Given the description of an element on the screen output the (x, y) to click on. 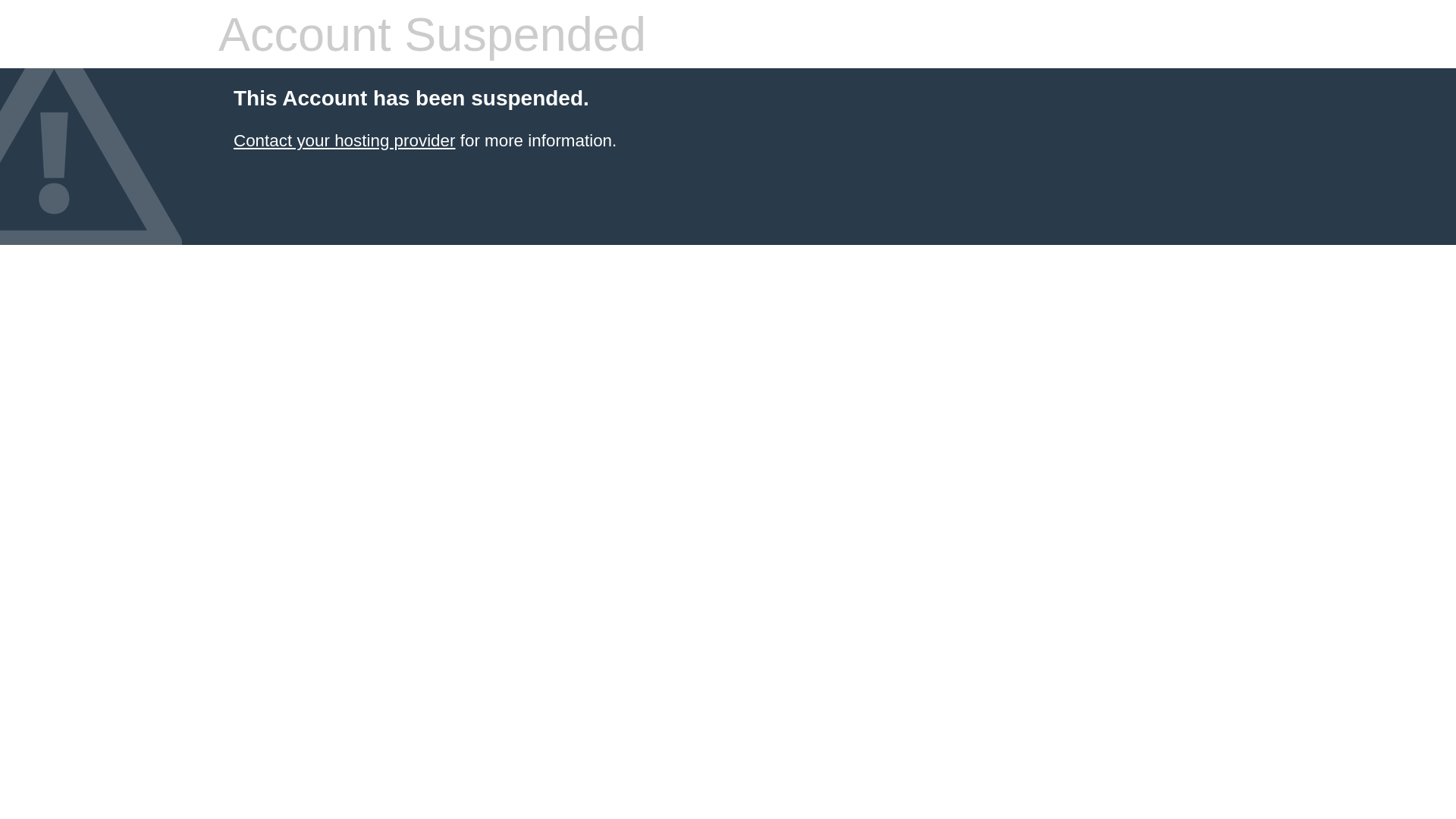
Contact your hosting provider Element type: text (344, 140)
